Given the description of an element on the screen output the (x, y) to click on. 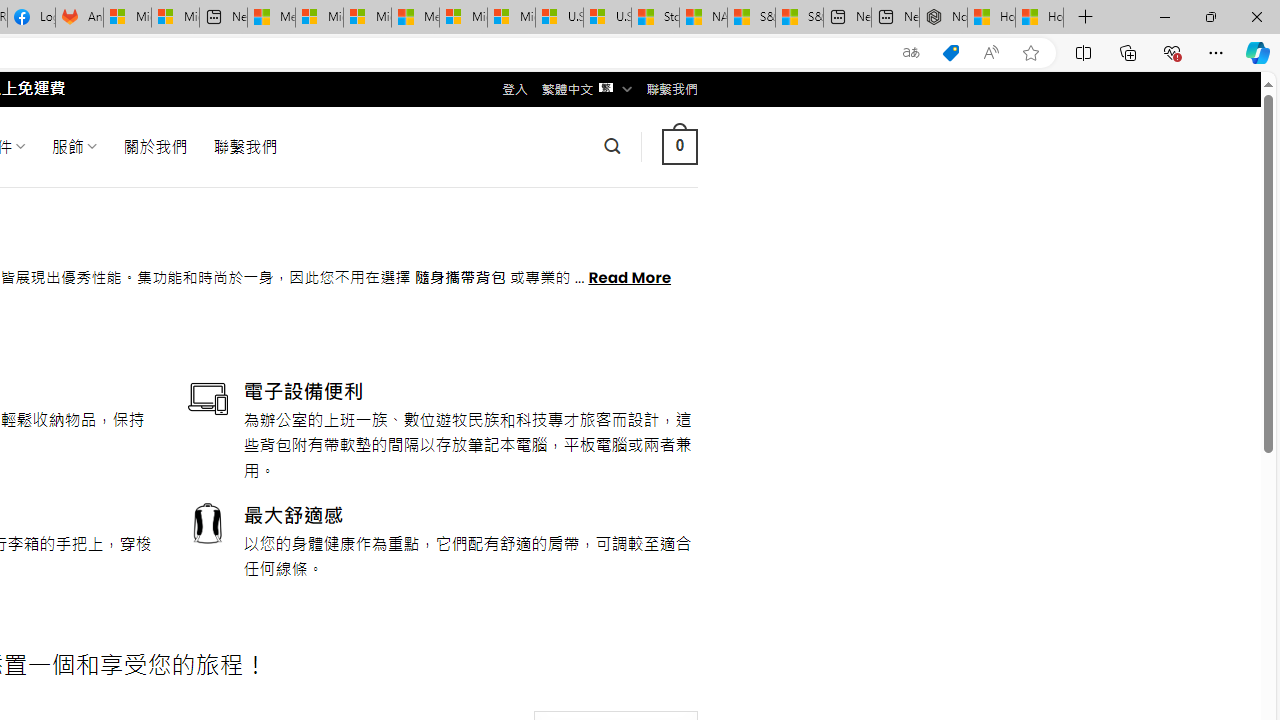
Microsoft account | Home (367, 17)
Show translate options (910, 53)
Microsoft account | Privacy (319, 17)
  0   (679, 146)
